Given the description of an element on the screen output the (x, y) to click on. 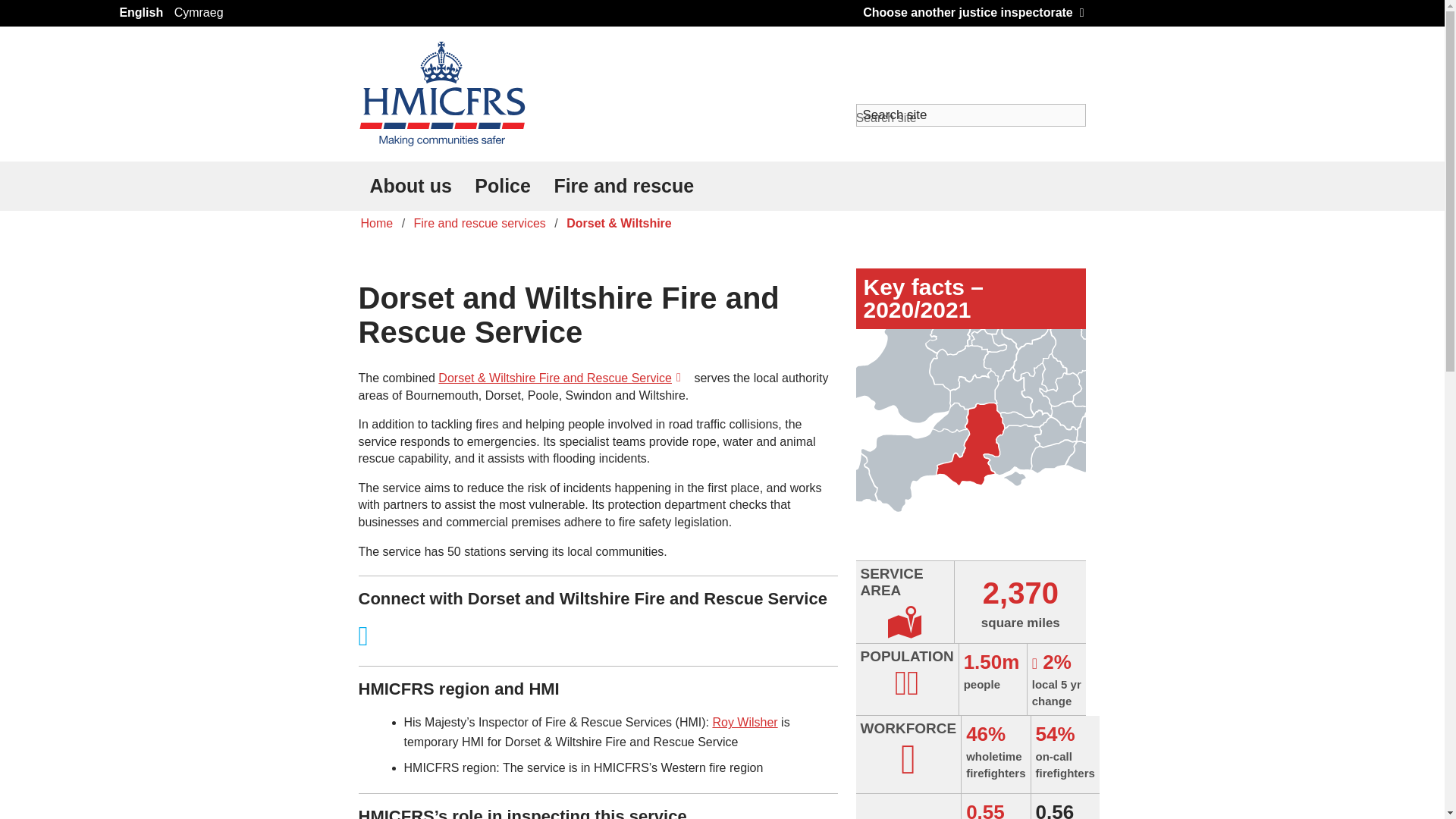
Fire and rescue (622, 185)
Cymraeg (198, 13)
English (141, 13)
Choose another justice inspectorate   (973, 12)
Police (502, 185)
Fire and rescue services (480, 222)
About us (410, 185)
Home (376, 222)
Fire and rescue (622, 185)
